Given the description of an element on the screen output the (x, y) to click on. 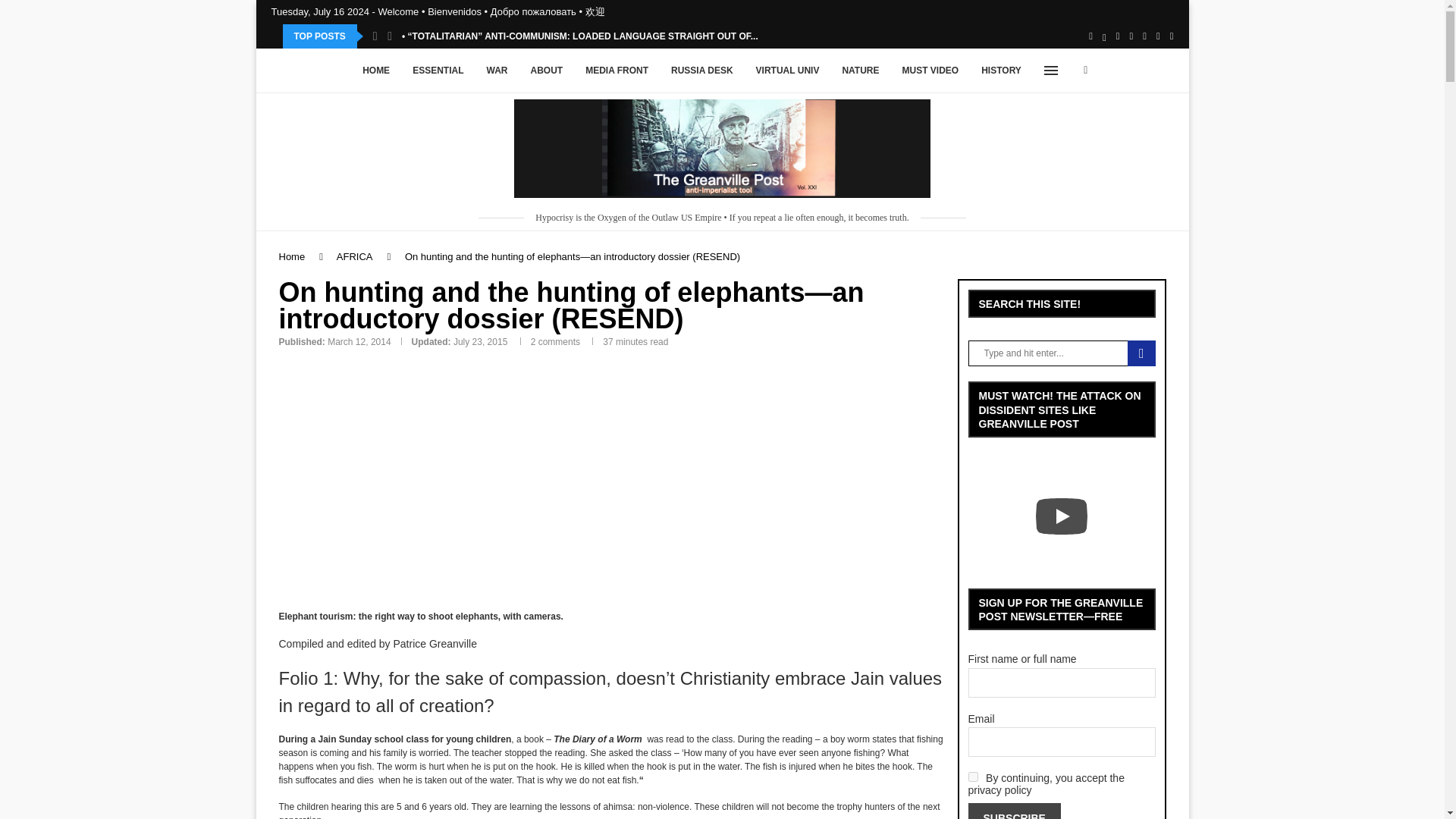
Subscribe (1013, 811)
View PDF (403, 431)
on (972, 777)
Print Content (646, 431)
